Given the description of an element on the screen output the (x, y) to click on. 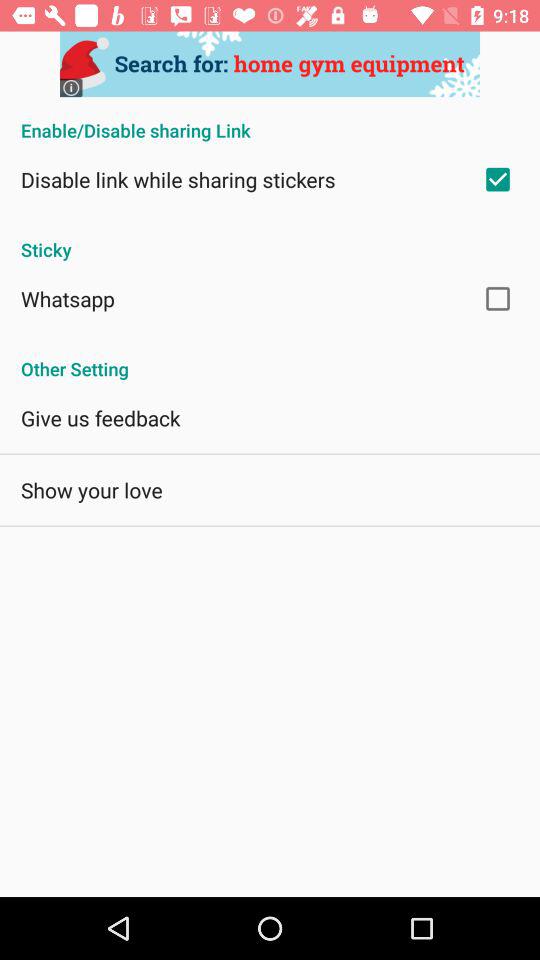
tap sticky (270, 239)
